Given the description of an element on the screen output the (x, y) to click on. 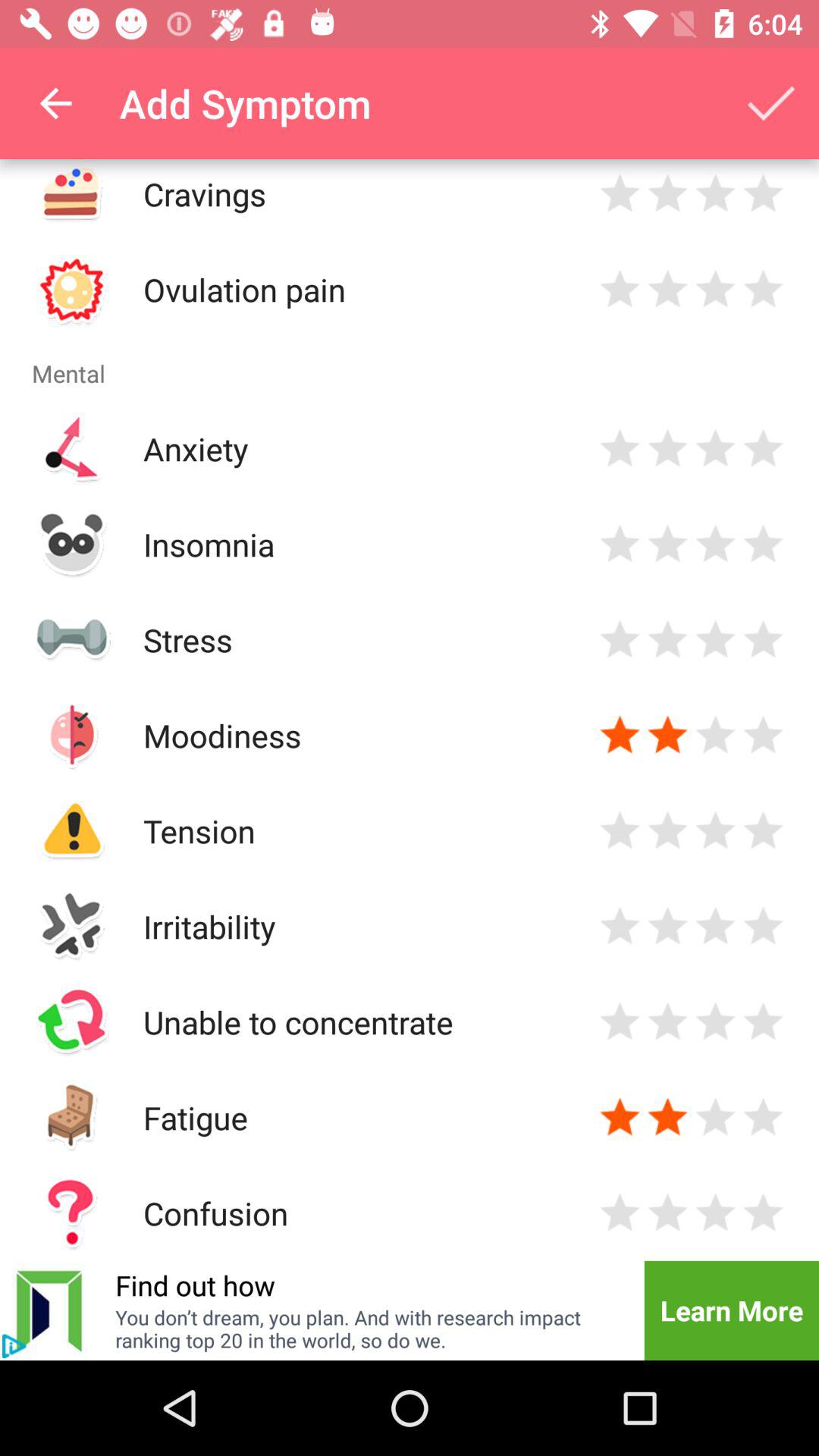
rate 5 star (763, 830)
